Given the description of an element on the screen output the (x, y) to click on. 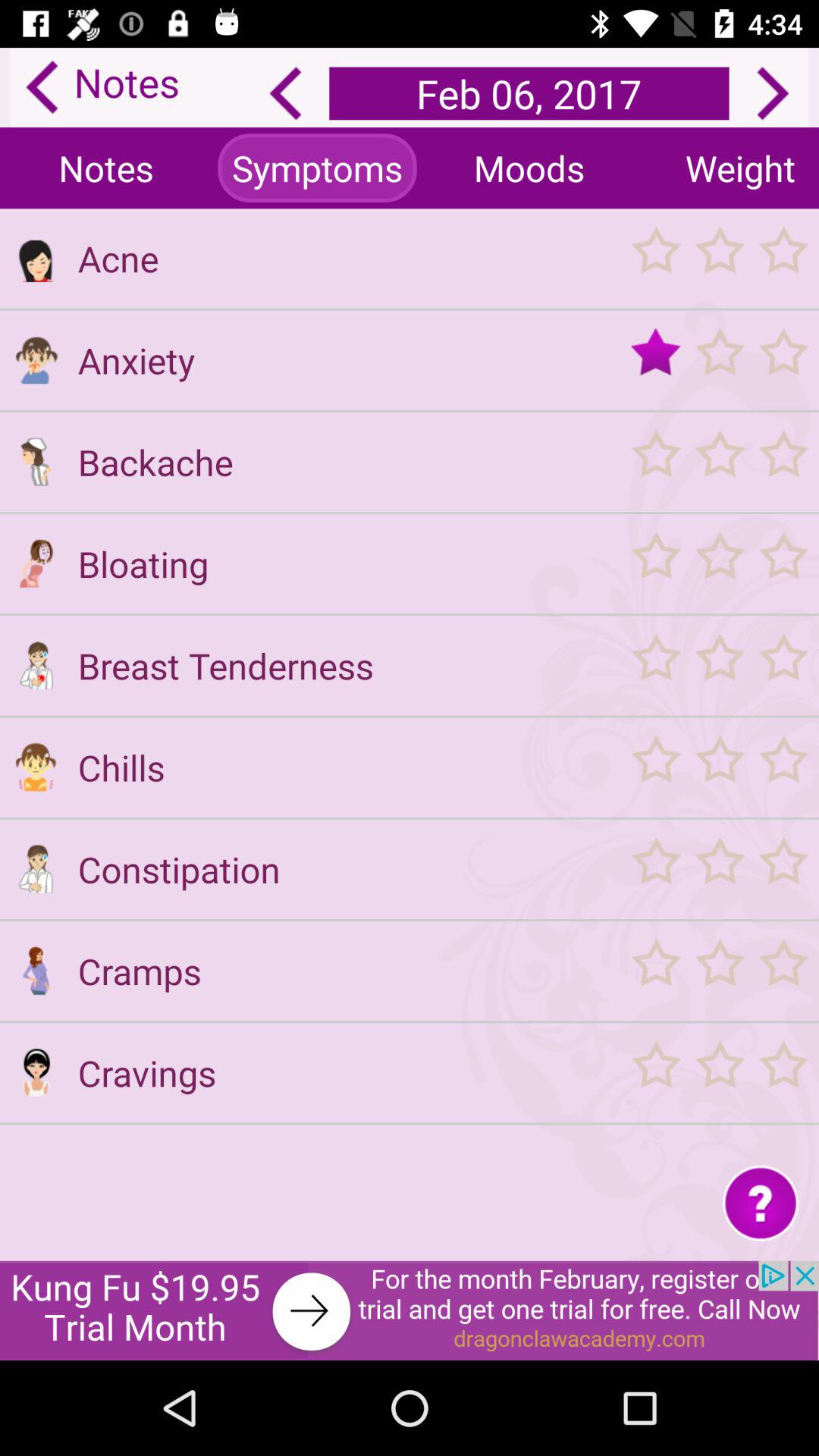
rate bloating (719, 563)
